Given the description of an element on the screen output the (x, y) to click on. 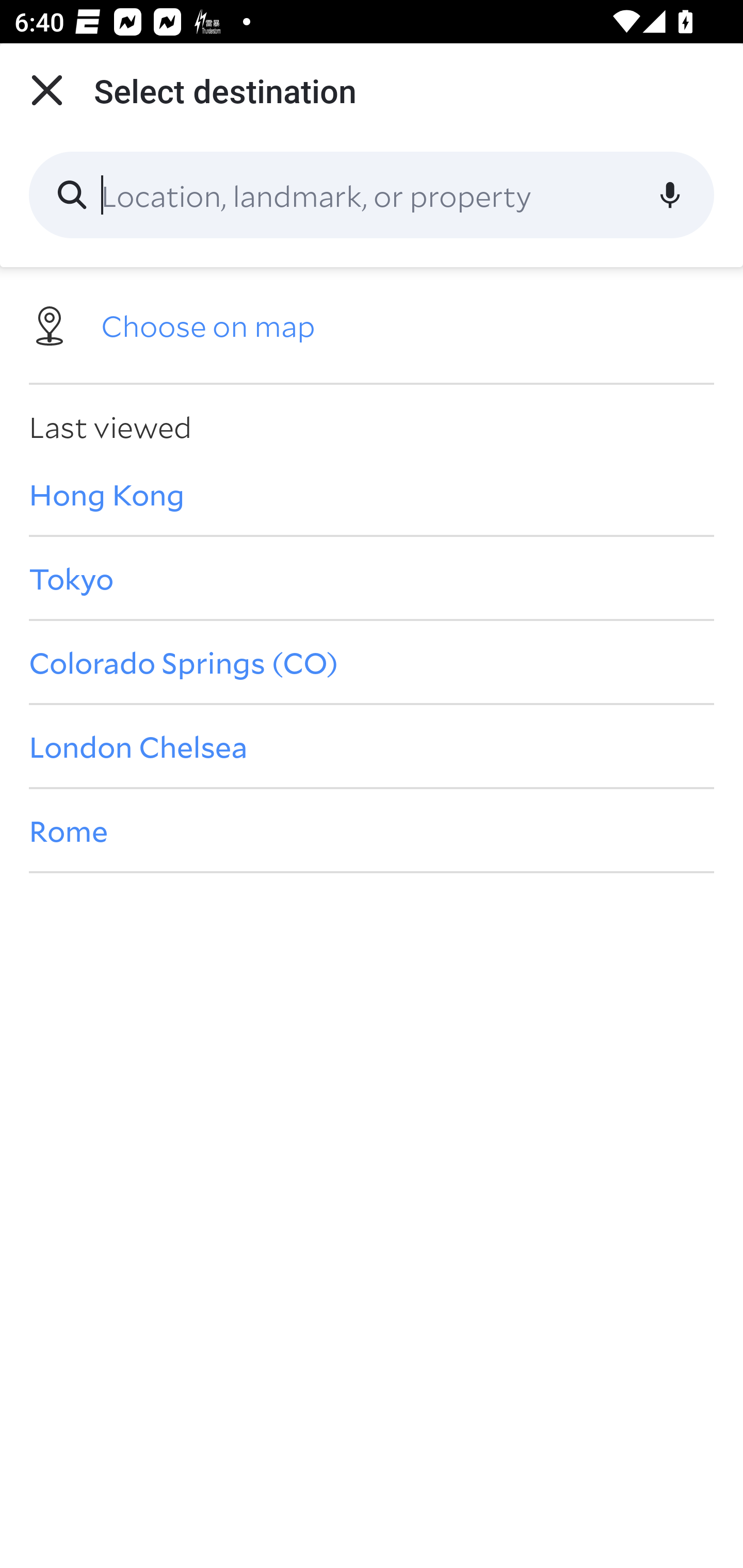
Location, landmark, or property (371, 195)
Choose on map (371, 324)
Hong Kong (371, 493)
Tokyo (371, 577)
Colorado Springs (CO) (371, 661)
London Chelsea (371, 746)
Rome (371, 829)
